Given the description of an element on the screen output the (x, y) to click on. 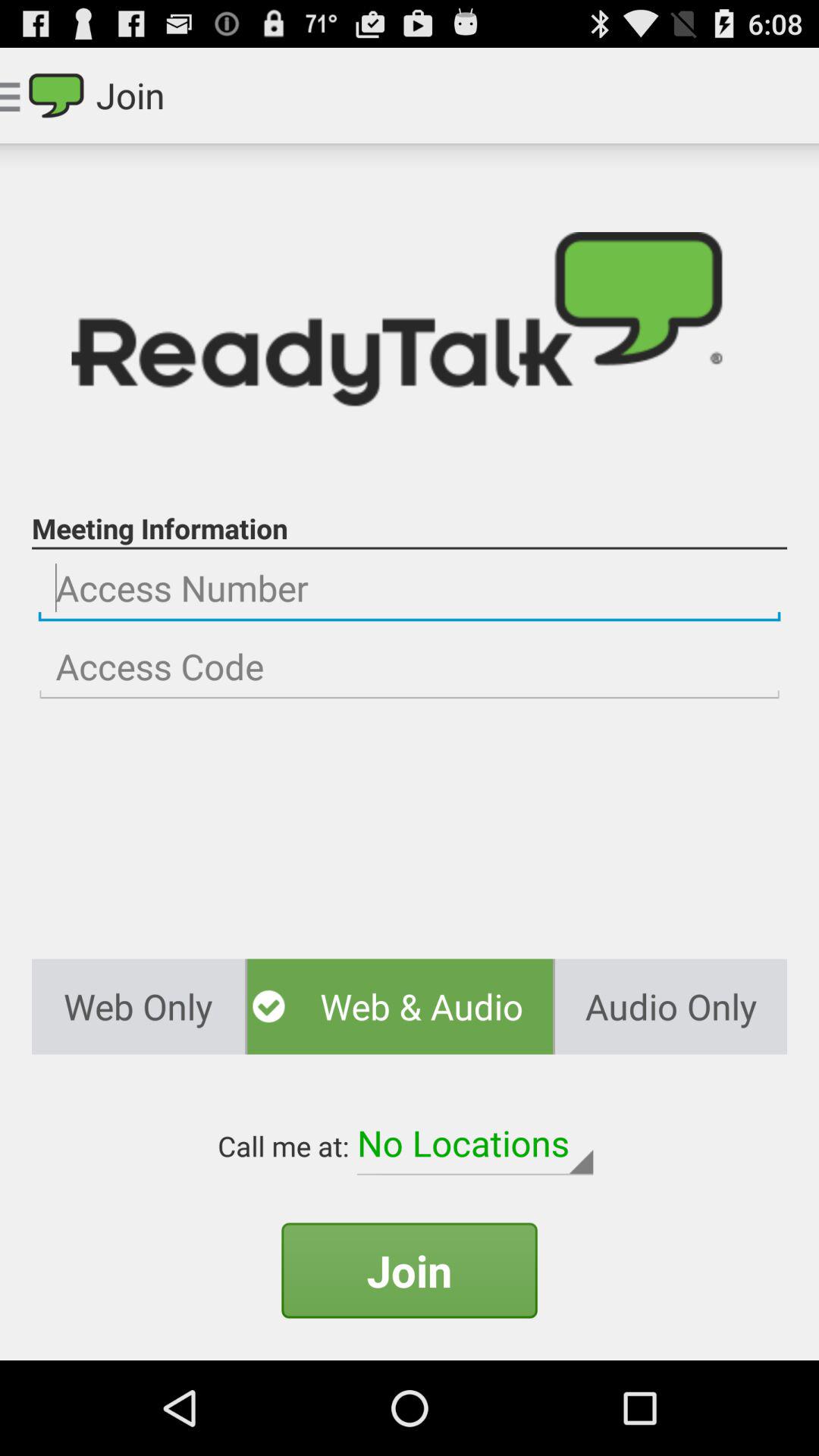
enter access number (409, 588)
